Given the description of an element on the screen output the (x, y) to click on. 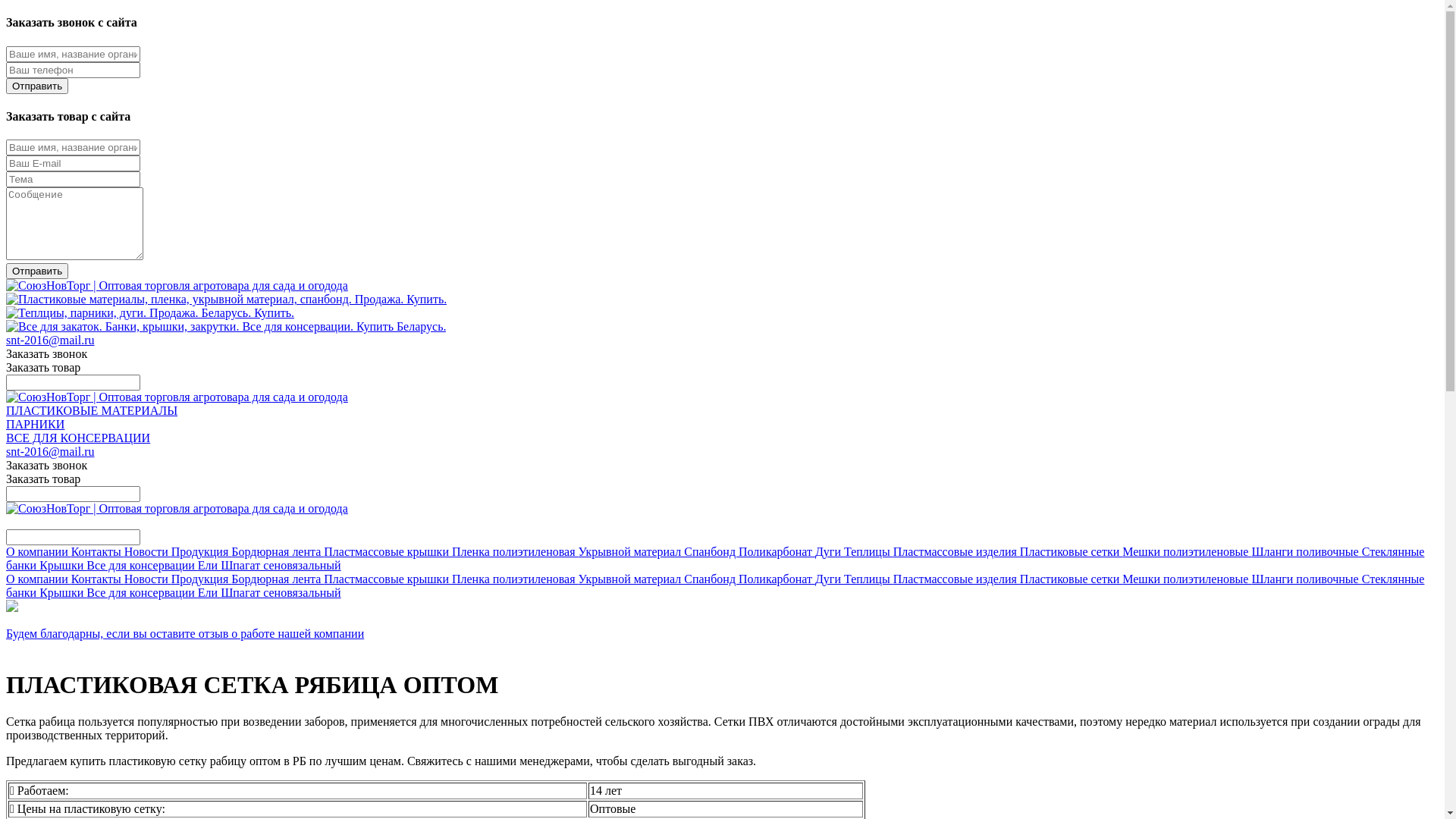
snt-2016@mail.ru Element type: text (50, 339)
snt-2016@mail.ru Element type: text (50, 451)
